Given the description of an element on the screen output the (x, y) to click on. 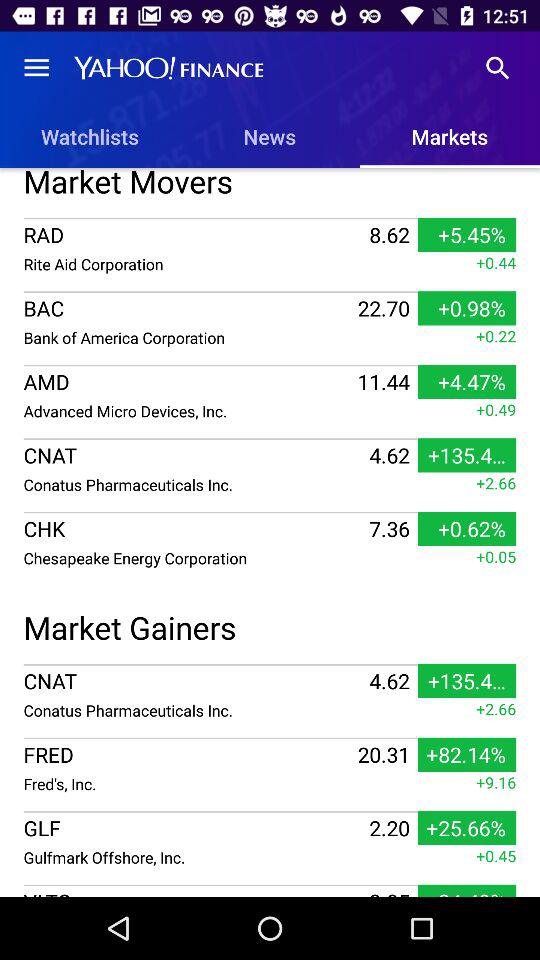
choose item above +0.22 icon (269, 291)
